Given the description of an element on the screen output the (x, y) to click on. 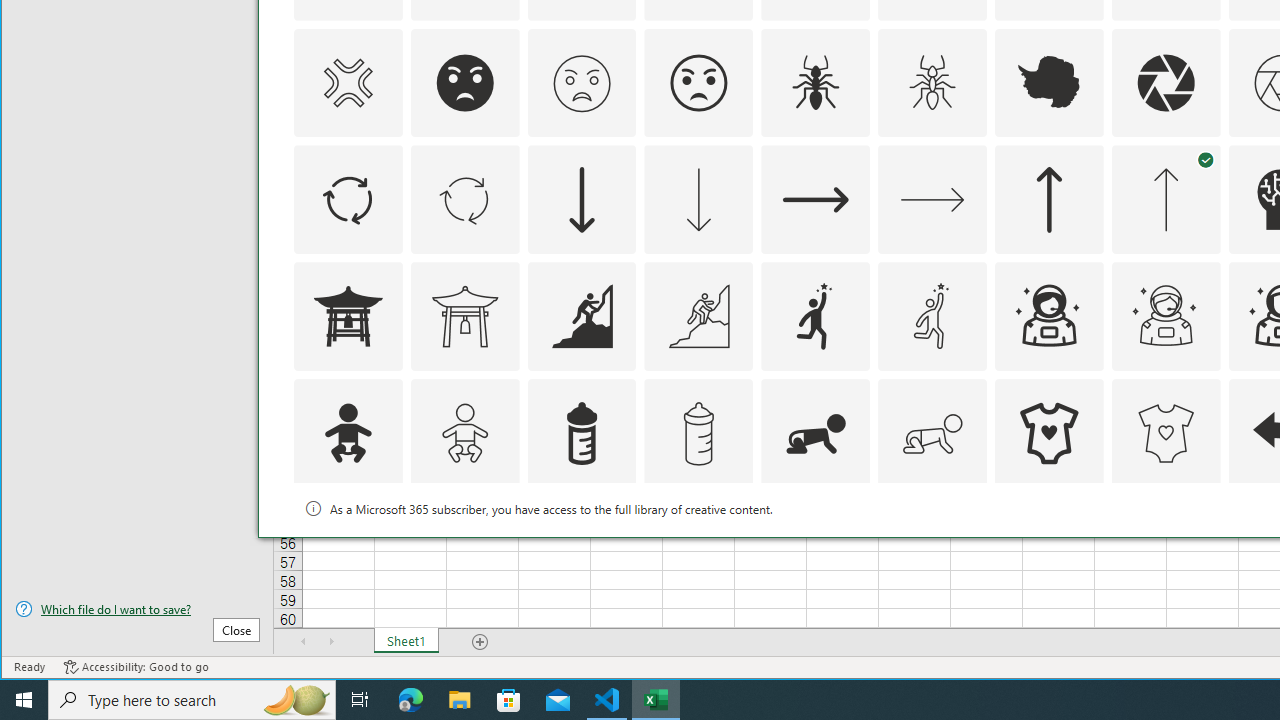
AutomationID: Icons_BabyBottle (582, 434)
AutomationID: Icons_AngryFace_M (582, 82)
AutomationID: Icons_Badge4_M (1048, 550)
AutomationID: Icons_BabyCrawling_M (932, 434)
Type here to search (191, 699)
Excel - 1 running window (656, 699)
AutomationID: Icons_Badge2_M (582, 550)
